Given the description of an element on the screen output the (x, y) to click on. 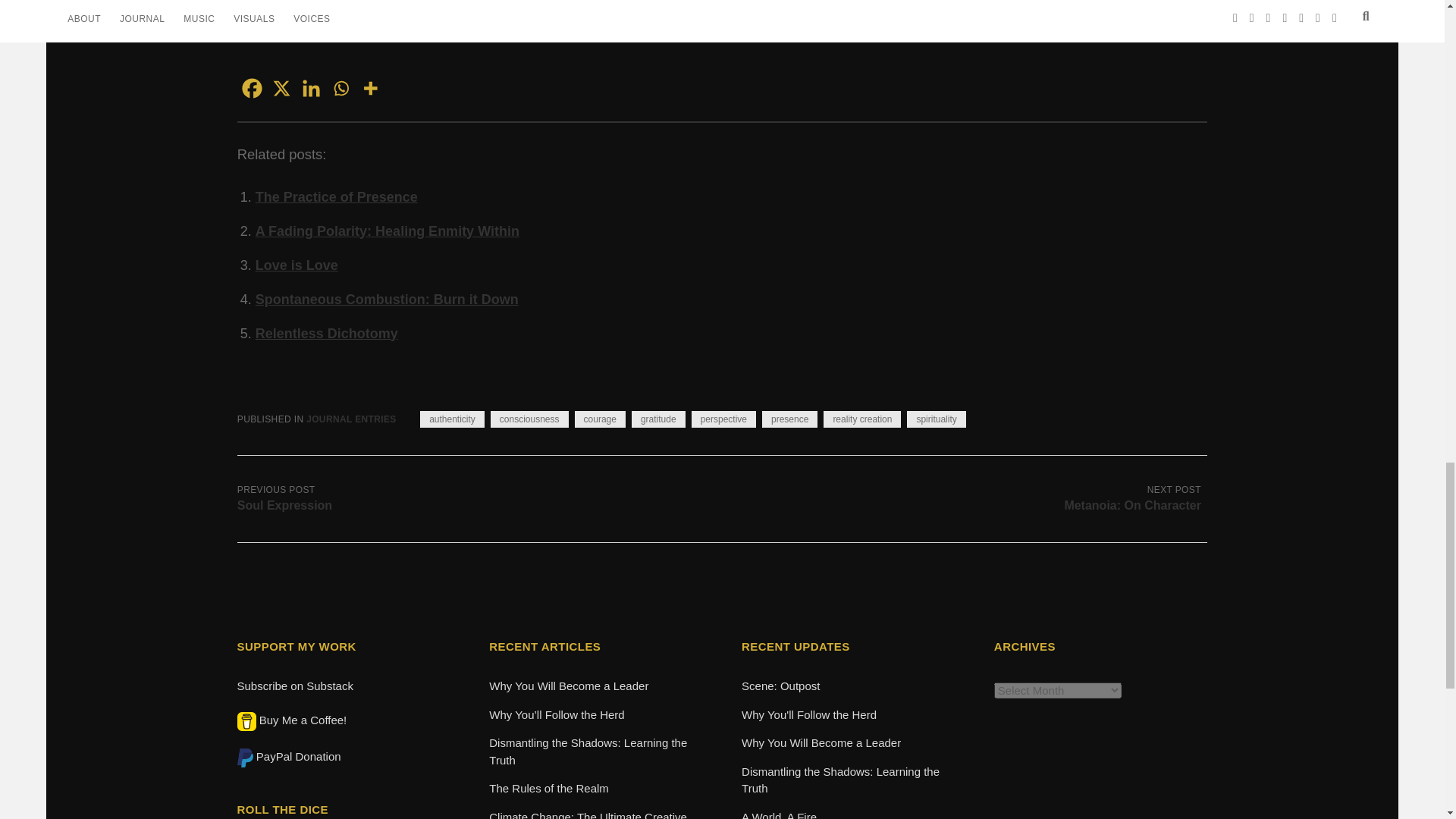
Linkedin (311, 88)
Whatsapp (340, 88)
A Fading Polarity: Healing Enmity Within (387, 231)
X (281, 88)
authenticity (452, 419)
Relentless Dichotomy (326, 333)
courage (600, 419)
JOURNAL ENTRIES (350, 419)
perspective (723, 419)
The Practice of Presence (336, 196)
Love is Love (296, 264)
gratitude (658, 419)
Facebook (251, 88)
Spontaneous Combustion: Burn it Down (387, 299)
consciousness (529, 419)
